Given the description of an element on the screen output the (x, y) to click on. 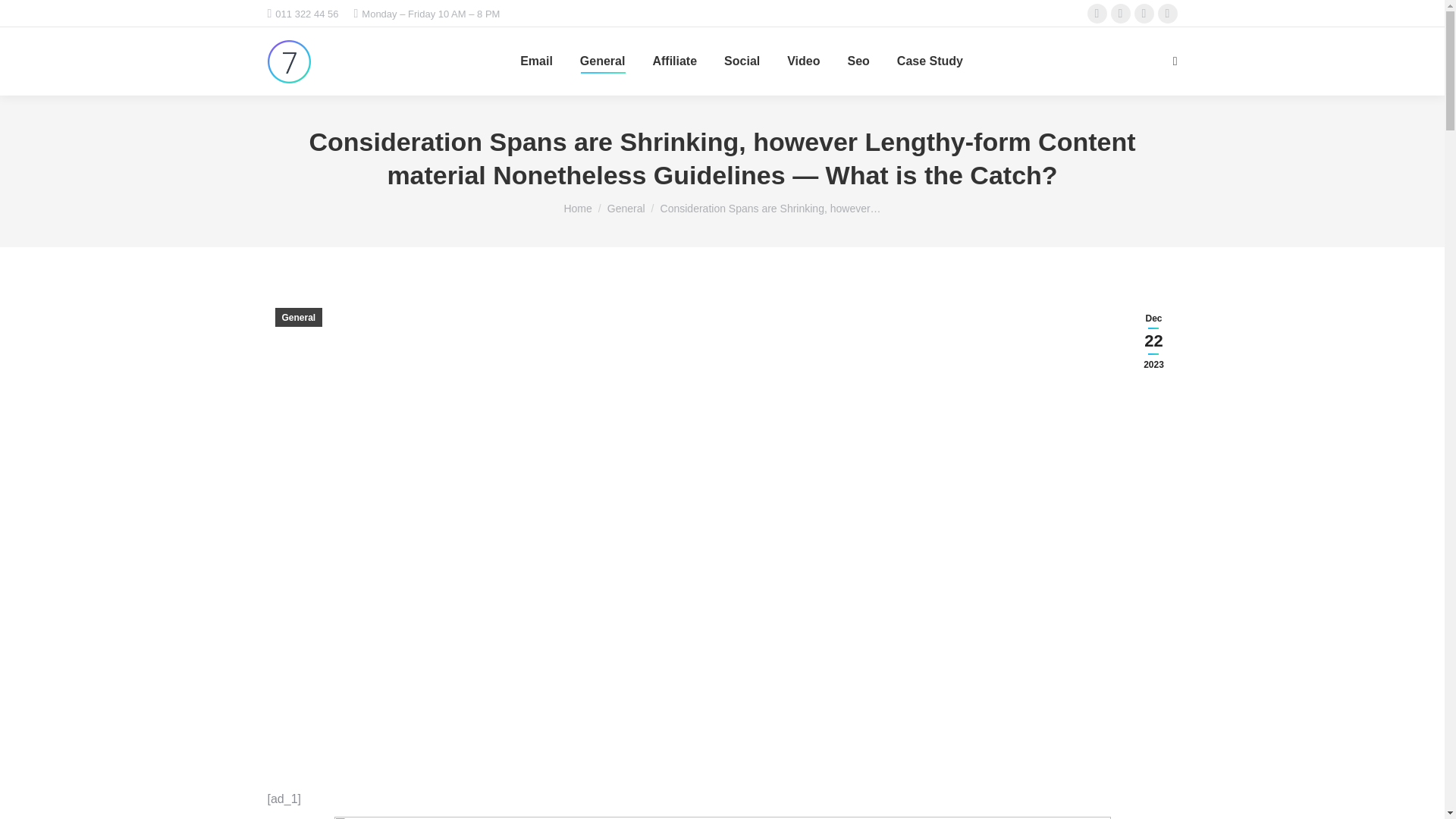
Case Study (929, 60)
YouTube page opens in new window (1167, 13)
Twitter page opens in new window (1120, 13)
Video (803, 60)
Facebook page opens in new window (1096, 13)
Instagram page opens in new window (1144, 13)
Affiliate (674, 60)
Social (741, 60)
General (602, 60)
Instagram page opens in new window (1144, 13)
Email (536, 60)
Facebook page opens in new window (1096, 13)
YouTube page opens in new window (1167, 13)
Twitter page opens in new window (1120, 13)
